Given the description of an element on the screen output the (x, y) to click on. 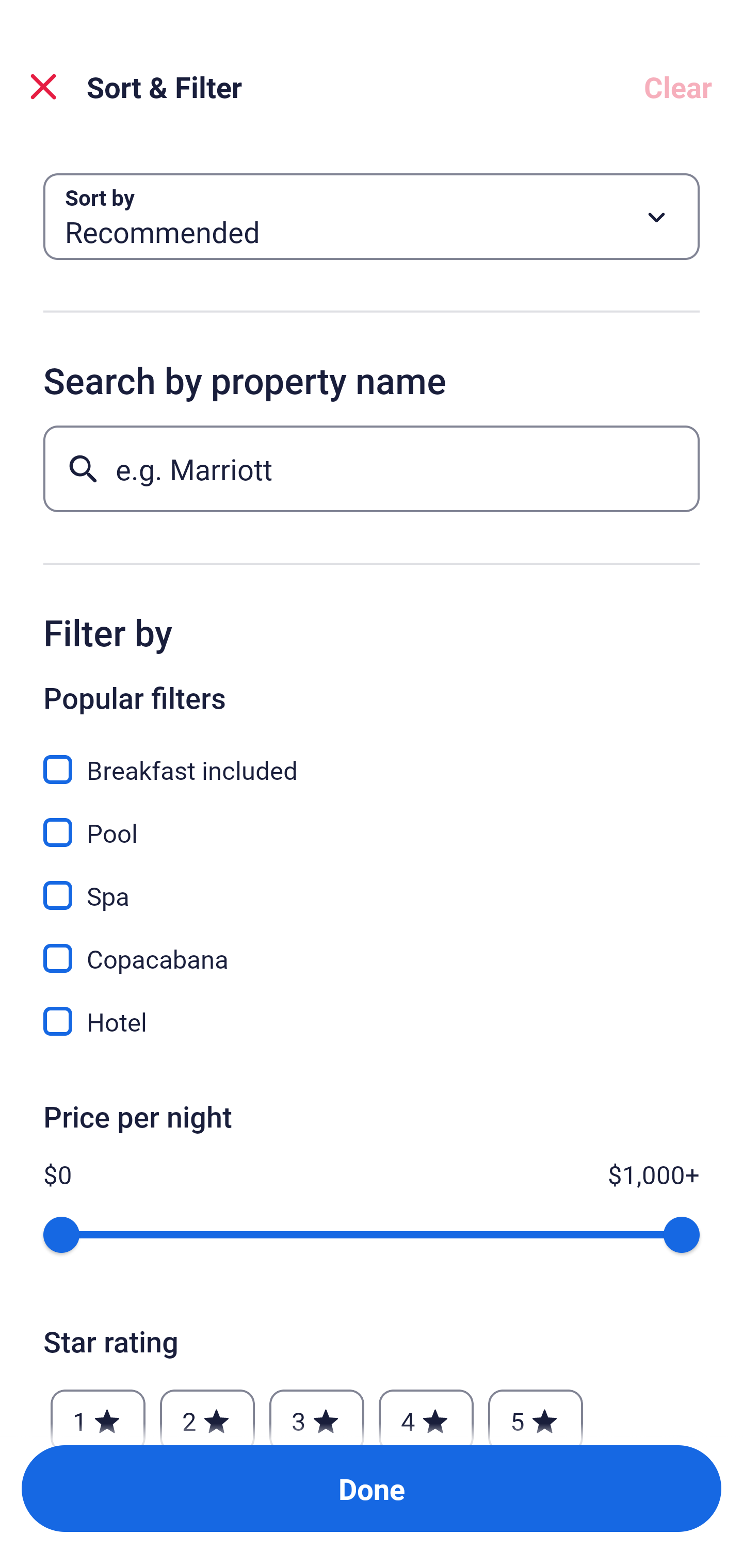
Close Sort and Filter (43, 86)
Clear (677, 86)
Sort by Button Recommended (371, 217)
e.g. Marriott Button (371, 468)
Breakfast included, Breakfast included (371, 757)
Pool, Pool (371, 821)
Spa, Spa (371, 883)
Copacabana, Copacabana (371, 946)
Hotel, Hotel (371, 1021)
1 (97, 1411)
2 (206, 1411)
3 (316, 1411)
4 (426, 1411)
5 (535, 1411)
Apply and close Sort and Filter Done (371, 1488)
